Given the description of an element on the screen output the (x, y) to click on. 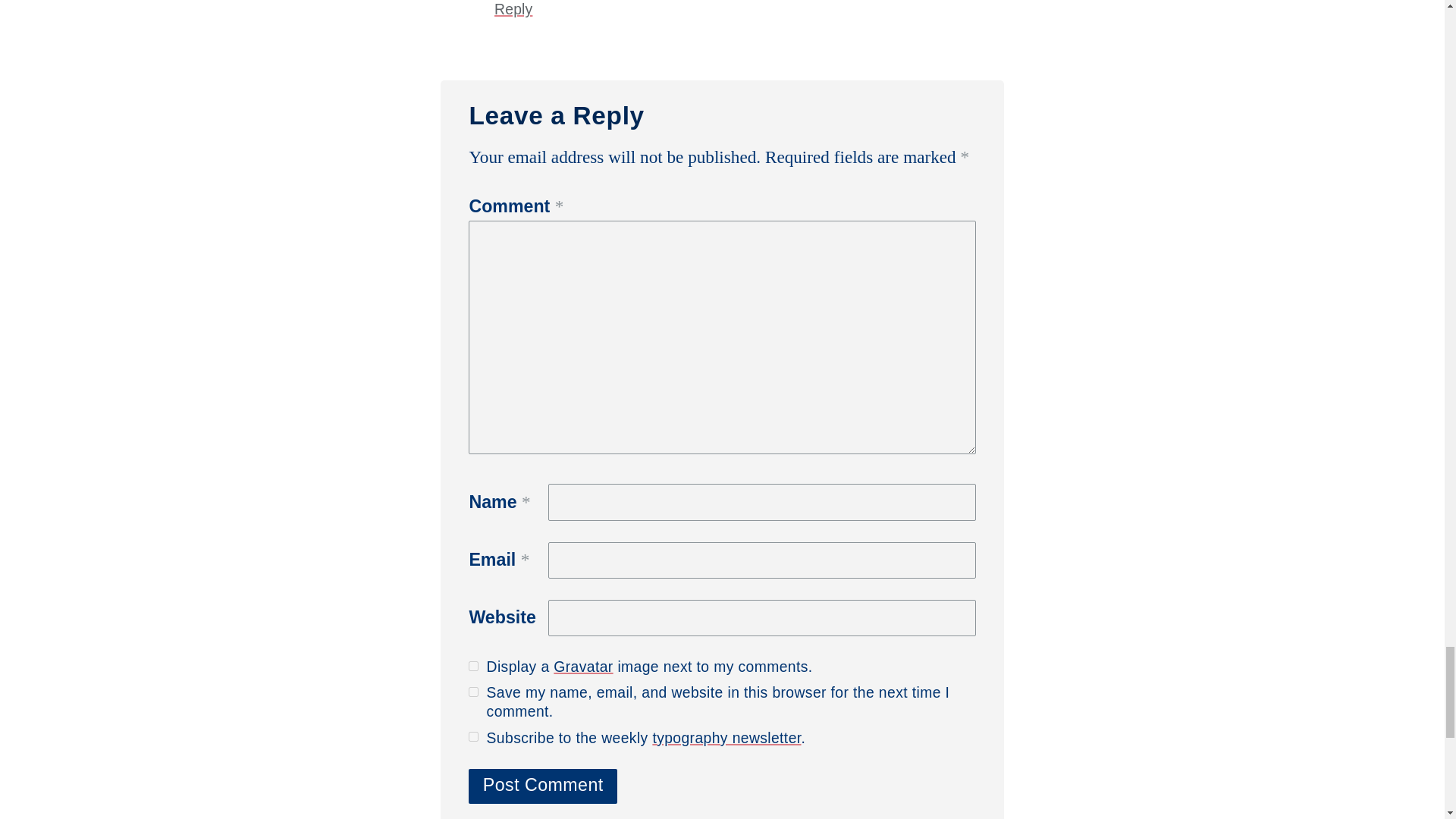
1 (473, 737)
Post Comment (542, 786)
typography newsletter (726, 738)
Reply (513, 9)
Post Comment (542, 786)
true (473, 665)
Gravatar (582, 666)
yes (473, 691)
